Given the description of an element on the screen output the (x, y) to click on. 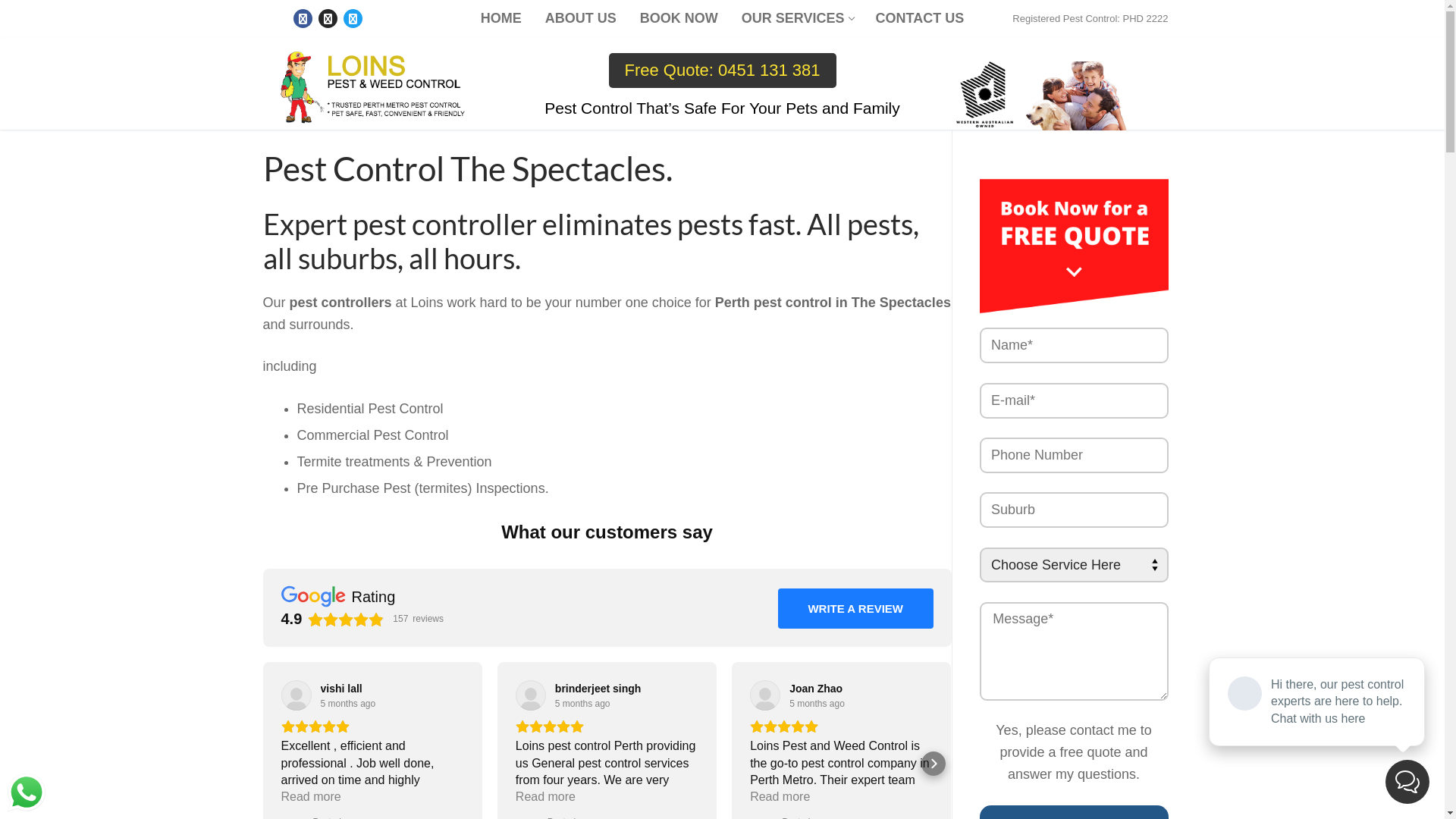
Twitter Element type: hover (352, 18)
Facebook Element type: hover (302, 18)
WhatsApp us Element type: hover (26, 792)
HOME Element type: text (500, 18)
WRITE A REVIEW Element type: text (855, 608)
Joan Zhao Element type: text (815, 688)
BOOK NOW Element type: text (679, 18)
Instagram Element type: hover (327, 18)
vishi lall Element type: text (340, 688)
brinderjeet singh Element type: text (598, 688)
OUR SERVICES
  Element type: text (796, 18)
ABOUT US Element type: text (580, 18)
CONTACT US Element type: text (920, 18)
